Given the description of an element on the screen output the (x, y) to click on. 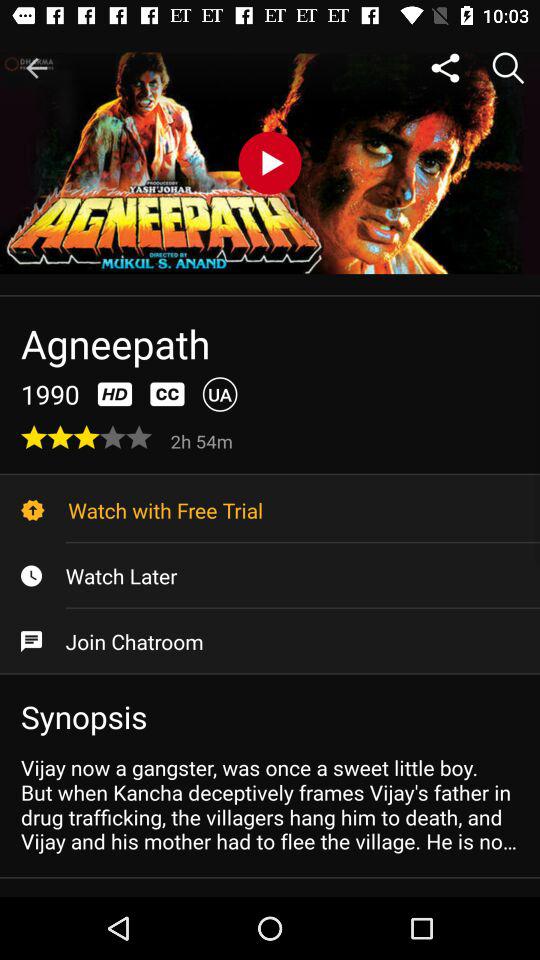
choose item above the synopsis icon (270, 641)
